Given the description of an element on the screen output the (x, y) to click on. 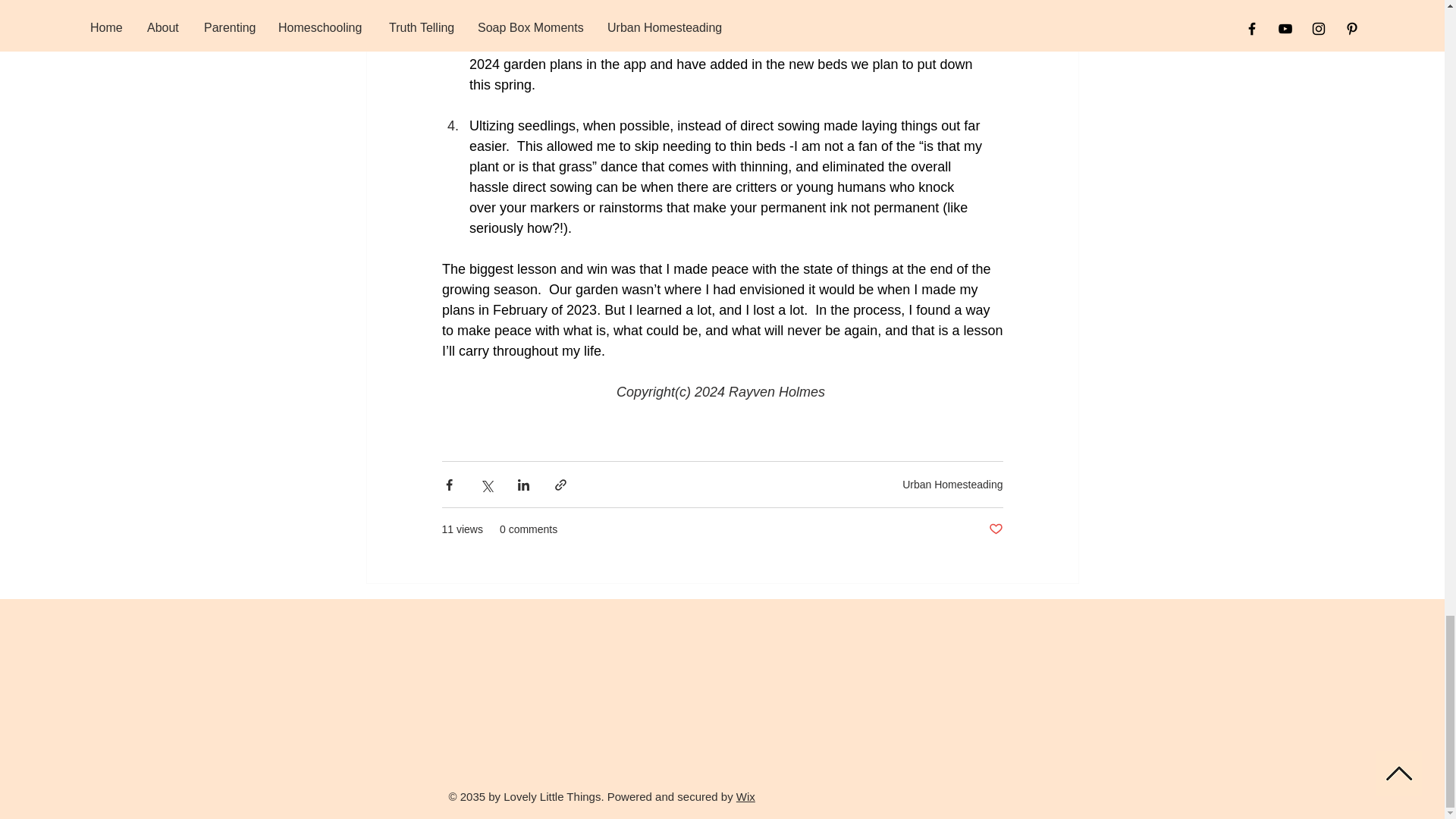
Urban Homesteading (952, 484)
Wix (745, 796)
Post not marked as liked (995, 529)
